Given the description of an element on the screen output the (x, y) to click on. 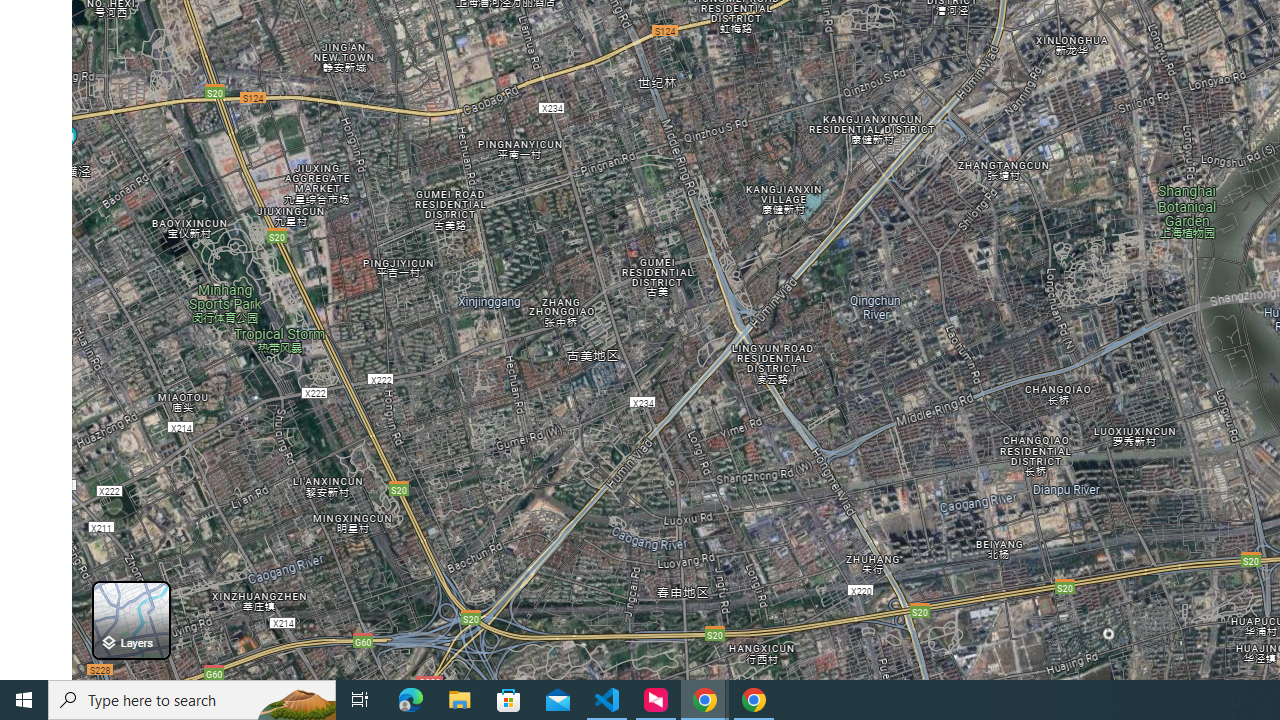
Layers (130, 620)
